Given the description of an element on the screen output the (x, y) to click on. 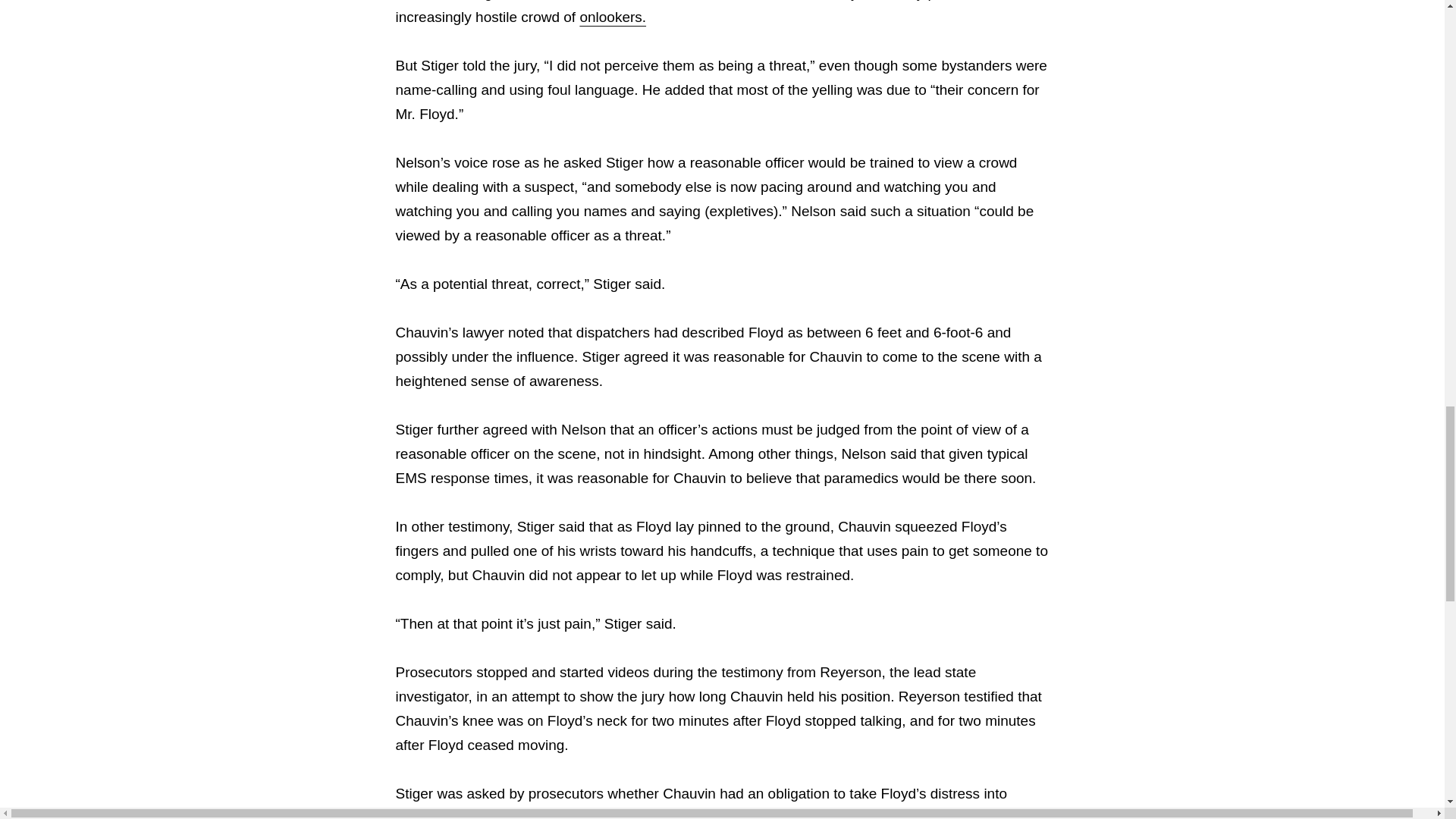
onlookers. (612, 17)
